Given the description of an element on the screen output the (x, y) to click on. 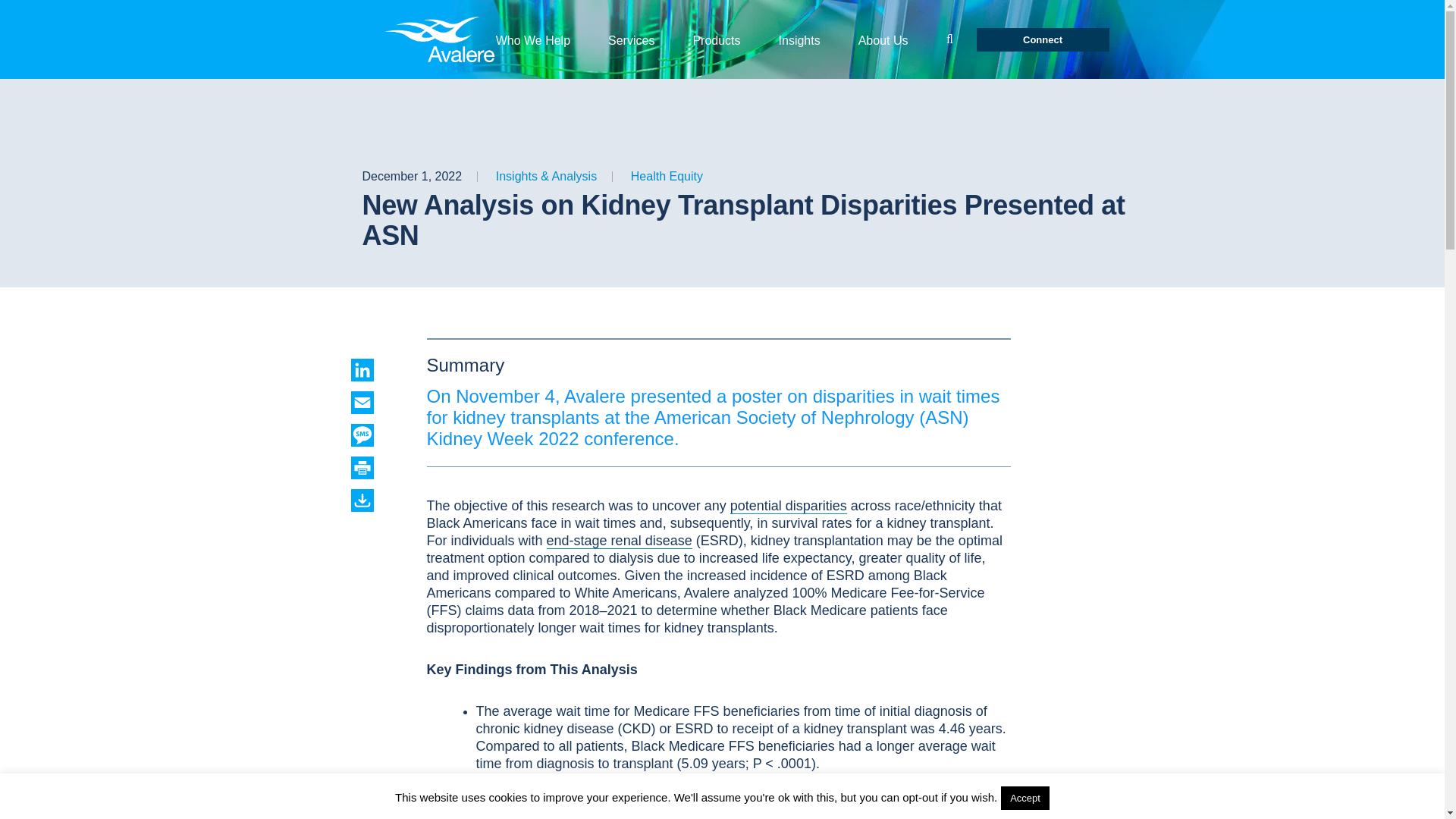
Products (715, 39)
Connect (1042, 39)
Insights (800, 39)
About Us (883, 39)
Who We Help (533, 39)
Submit (949, 39)
Email (376, 402)
LinkedIn (376, 369)
Message (376, 435)
Avalere (442, 39)
Services (630, 39)
Health Equity (666, 176)
